Given the description of an element on the screen output the (x, y) to click on. 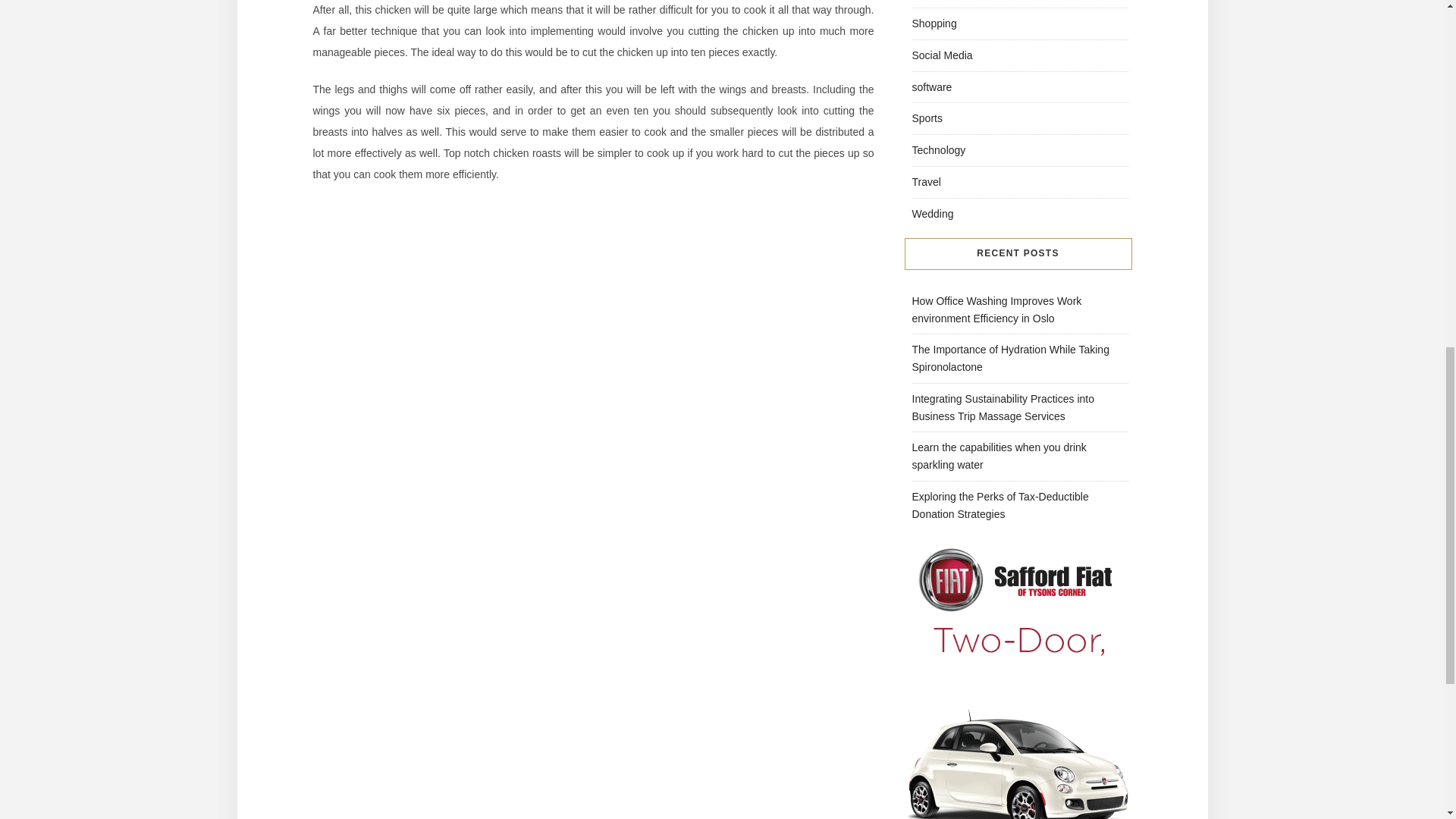
Shopping (933, 23)
Travel (925, 182)
Wedding (932, 214)
software (931, 86)
Social Media (941, 55)
Technology (938, 150)
Sports (926, 118)
